Given the description of an element on the screen output the (x, y) to click on. 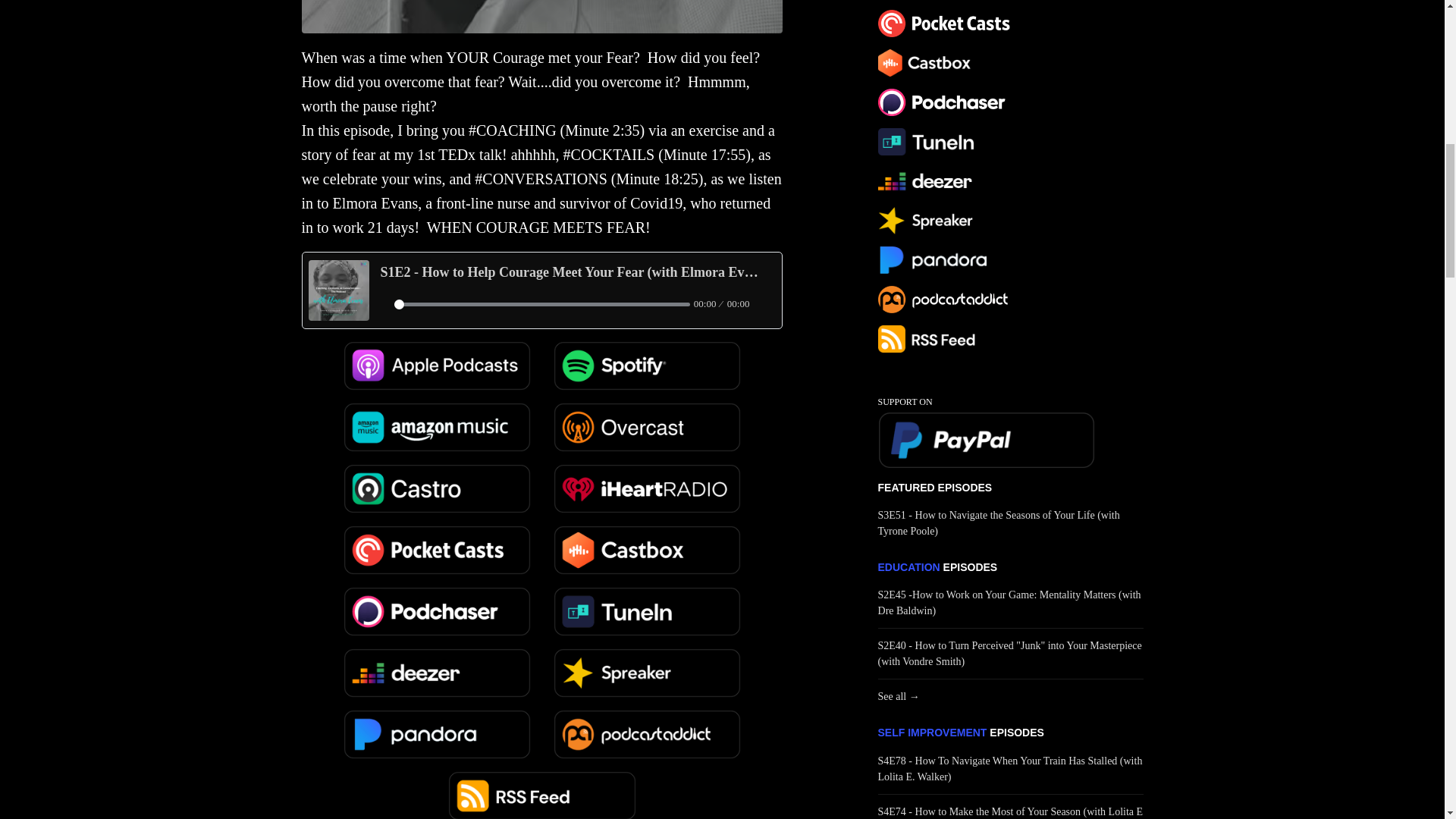
0 (542, 304)
